Given the description of an element on the screen output the (x, y) to click on. 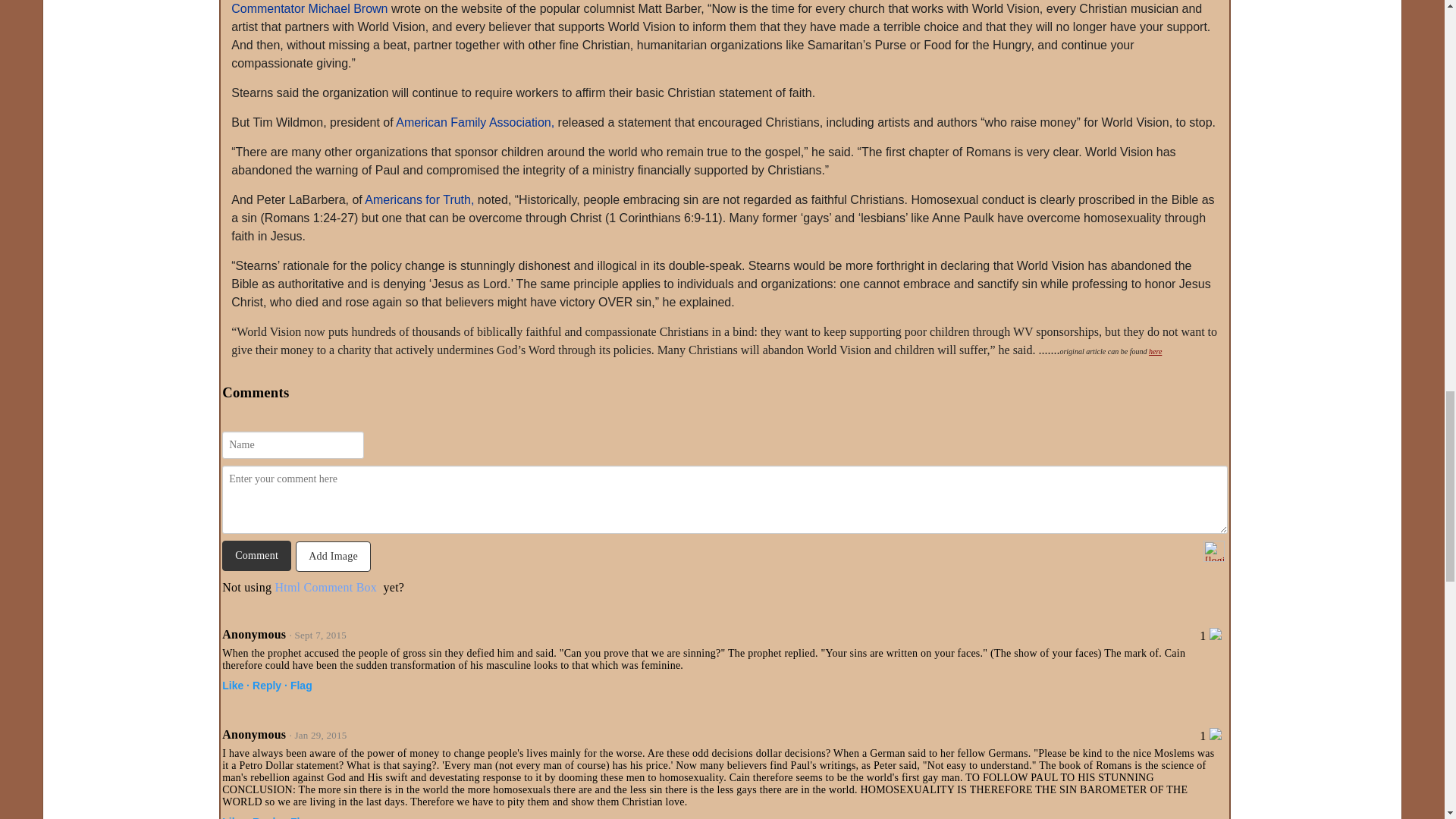
Comment (256, 555)
Commentator Michael Brown  (311, 8)
upload image (335, 555)
